Given the description of an element on the screen output the (x, y) to click on. 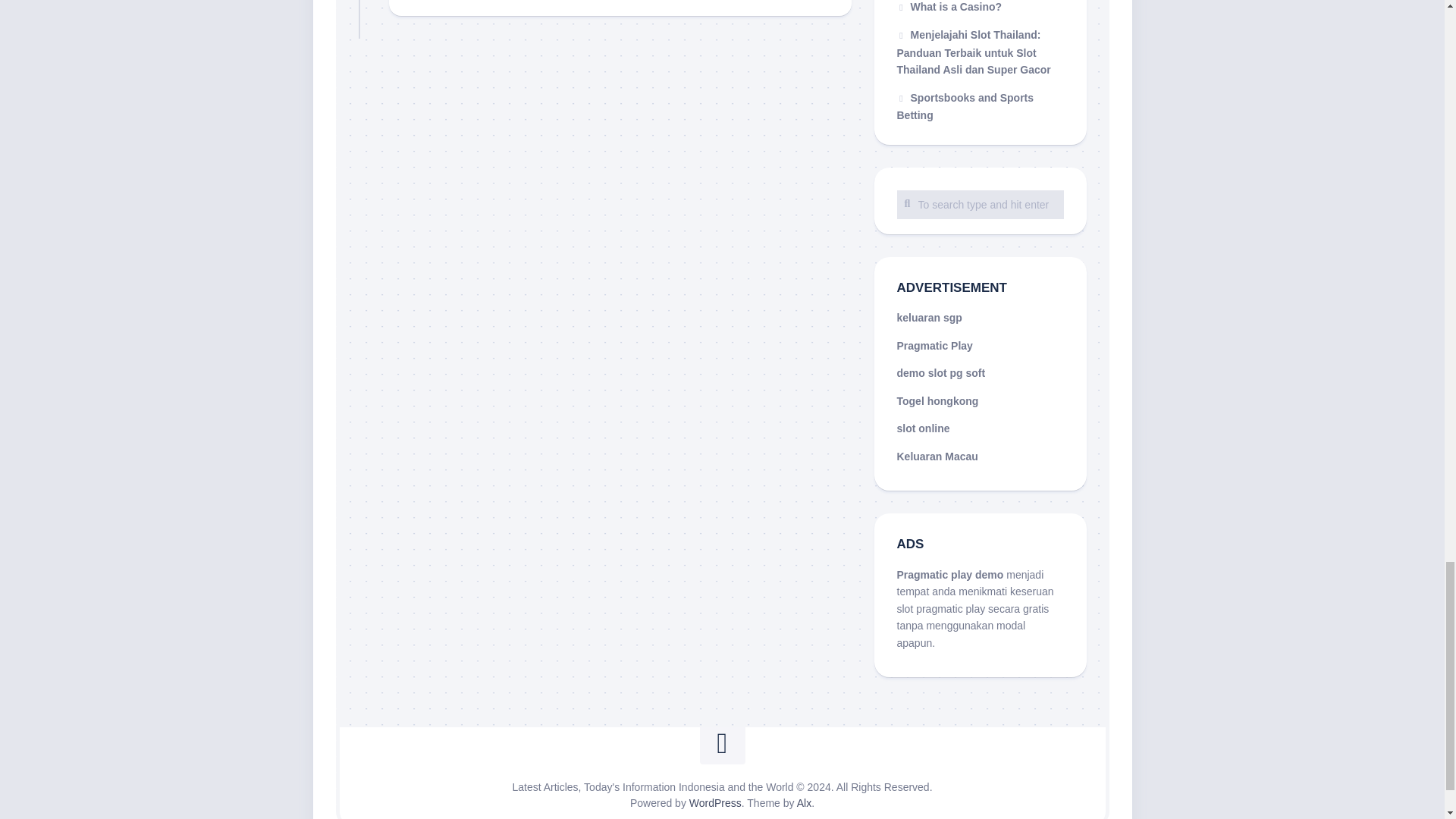
To search type and hit enter (979, 203)
To search type and hit enter (979, 203)
